Given the description of an element on the screen output the (x, y) to click on. 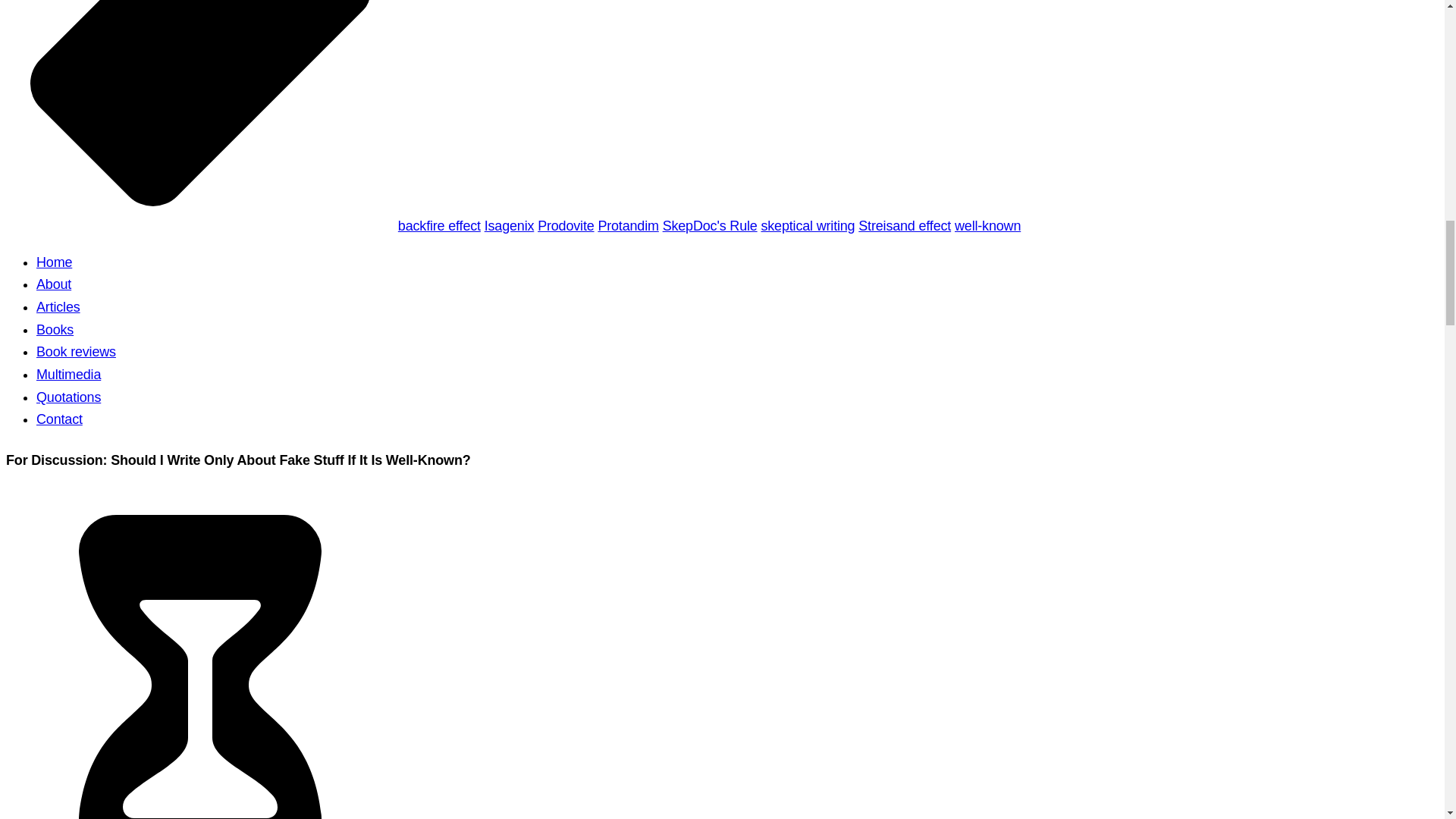
backfire effect (438, 225)
well-known (987, 225)
Prodovite (565, 225)
SkepDoc's Rule (709, 225)
Home (53, 262)
About (53, 283)
Articles (58, 306)
Protandim (627, 225)
Multimedia (68, 374)
Streisand effect (904, 225)
